Given the description of an element on the screen output the (x, y) to click on. 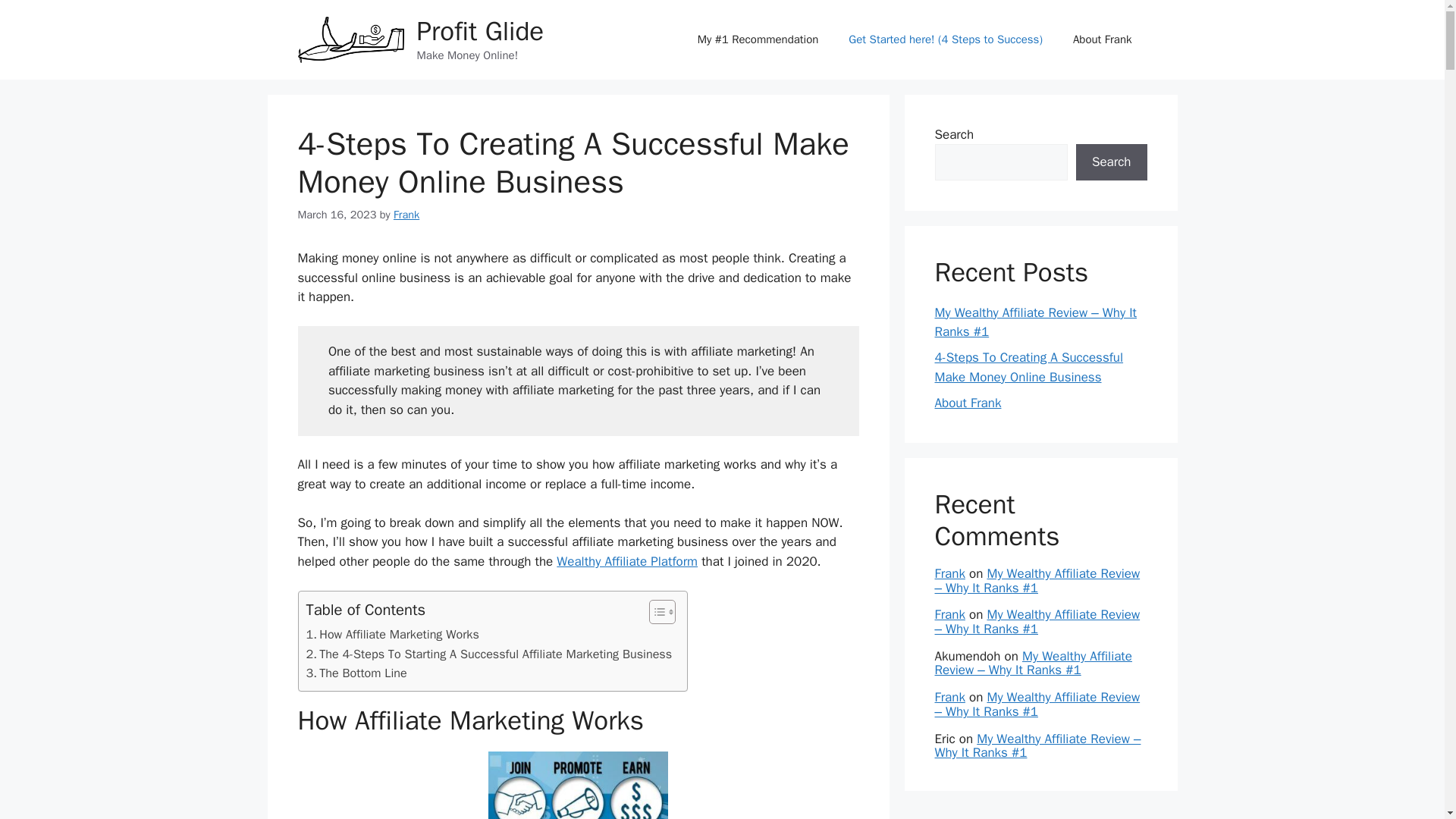
How affiliate marketing works (577, 785)
View all posts by Frank (406, 214)
Wealthy Affiliate Platform (626, 561)
How Affiliate Marketing Works (392, 634)
How Affiliate Marketing Works (392, 634)
Frank (406, 214)
The Bottom Line (356, 673)
The Bottom Line (356, 673)
About Frank (1102, 39)
Profit Glide (480, 30)
